Given the description of an element on the screen output the (x, y) to click on. 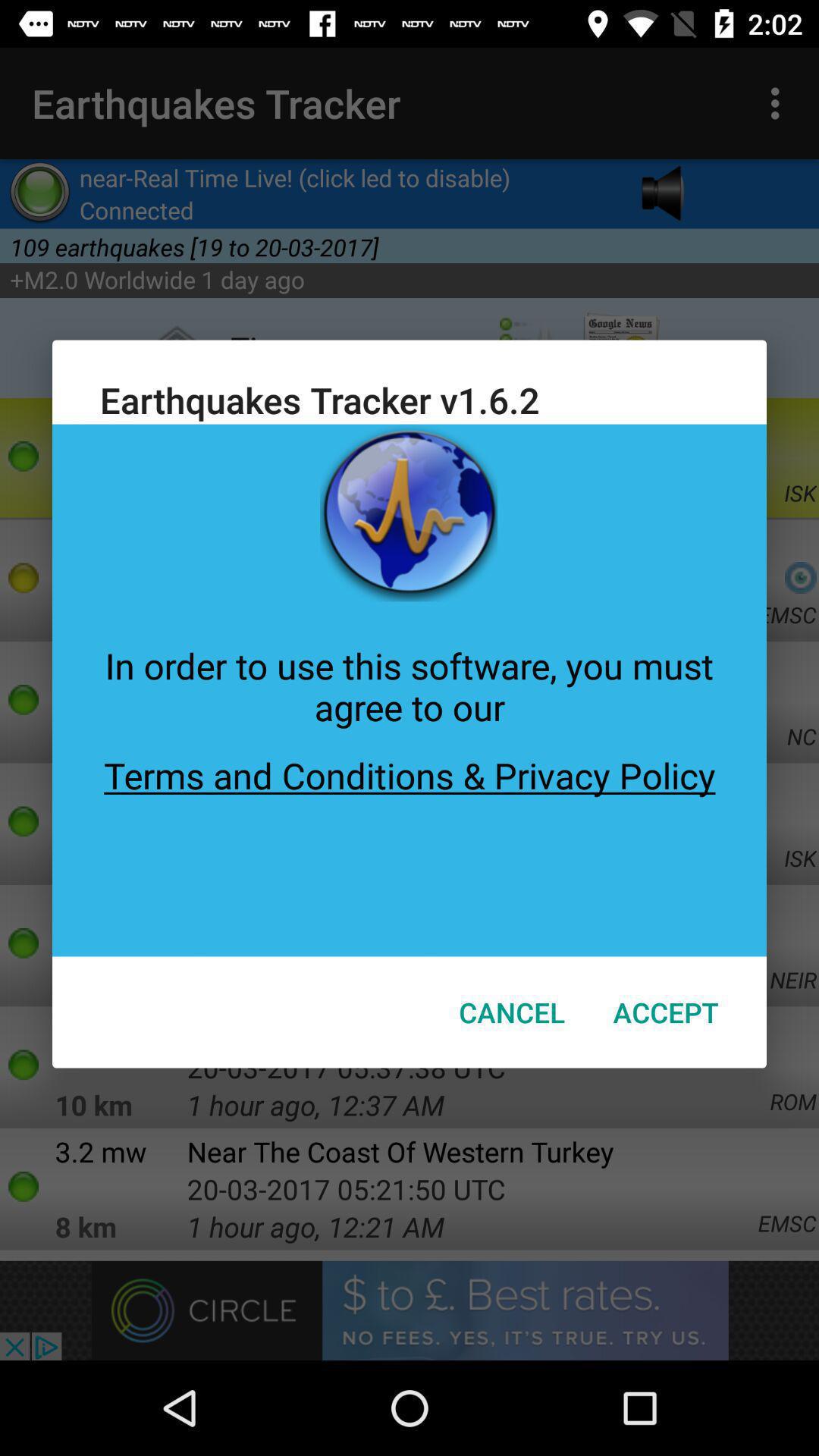
choose item below the terms and conditions item (665, 1012)
